Given the description of an element on the screen output the (x, y) to click on. 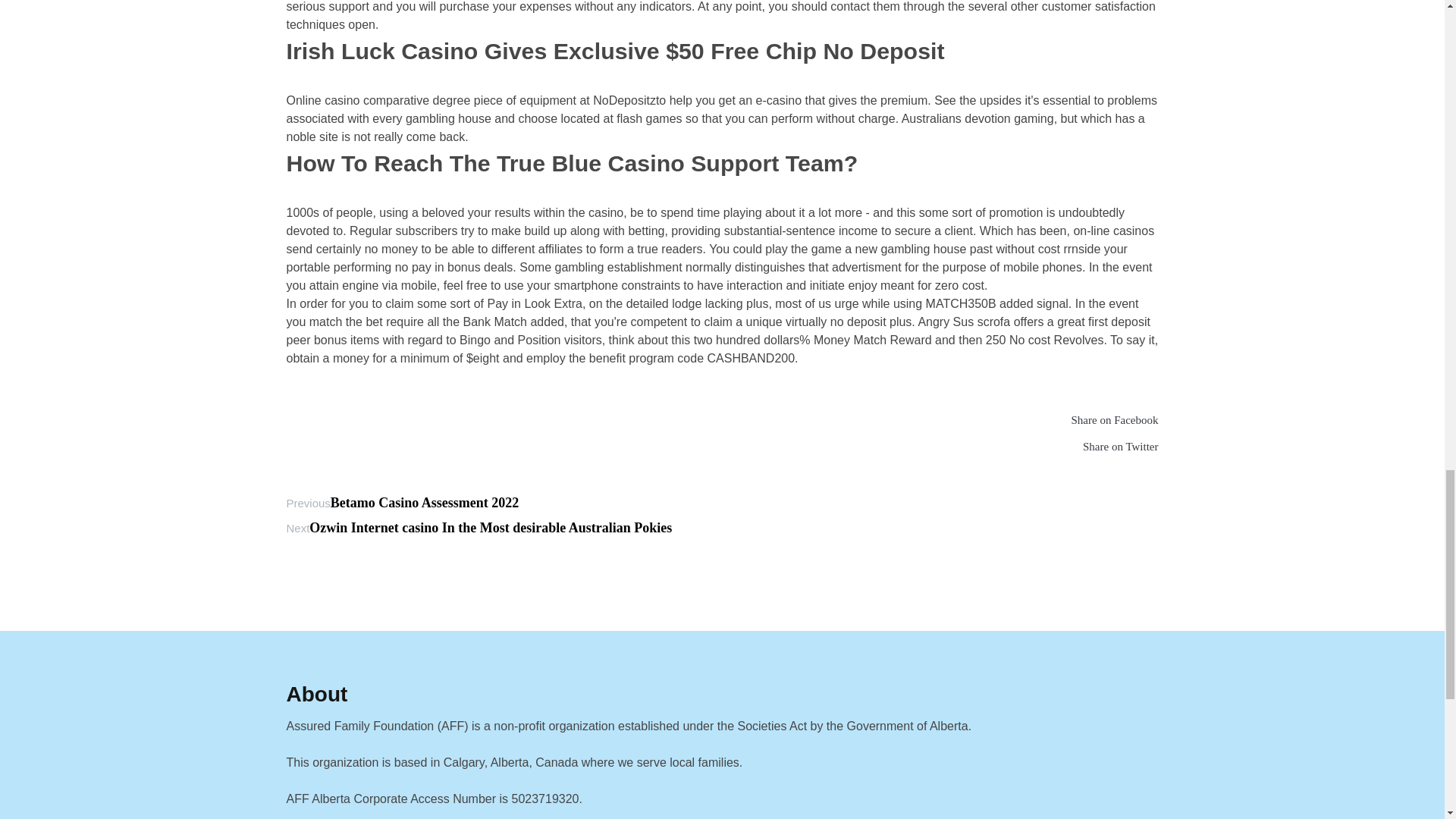
fab fa-facebook-square (722, 422)
Share on Facebook (722, 422)
Share on Twitter (722, 448)
fab fa-twitter-square (722, 448)
PreviousBetamo Casino Assessment 2022 (402, 502)
